Given the description of an element on the screen output the (x, y) to click on. 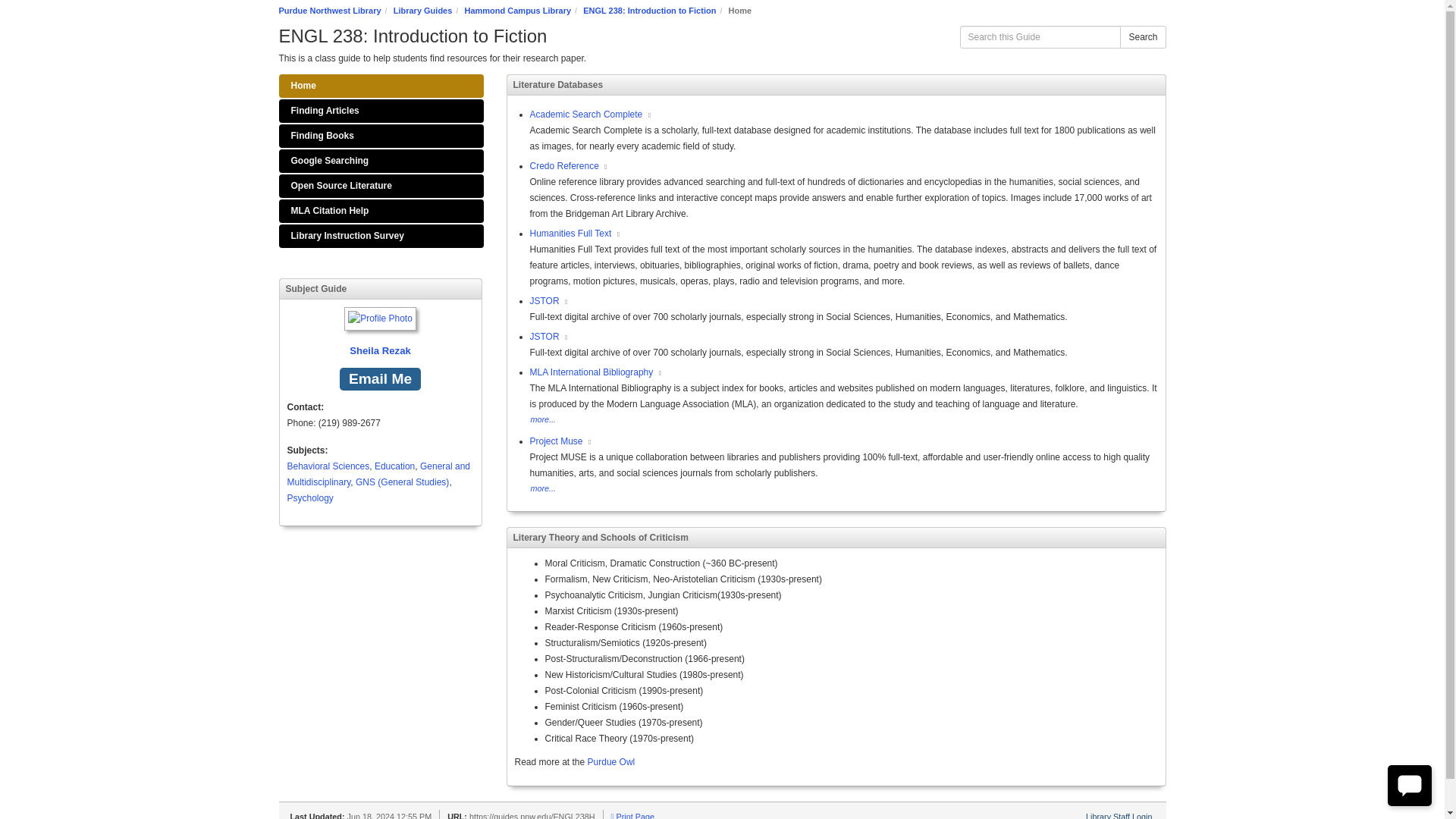
Google Searching (381, 160)
Psychology (309, 498)
General and Multidisciplinary (378, 474)
Credo Reference (563, 165)
Humanities Full Text (570, 233)
Sheila Rezak (379, 333)
Library Instruction Survey (381, 236)
JSTOR (544, 336)
Behavioral Sciences (327, 466)
Purdue Northwest Library (330, 10)
